Given the description of an element on the screen output the (x, y) to click on. 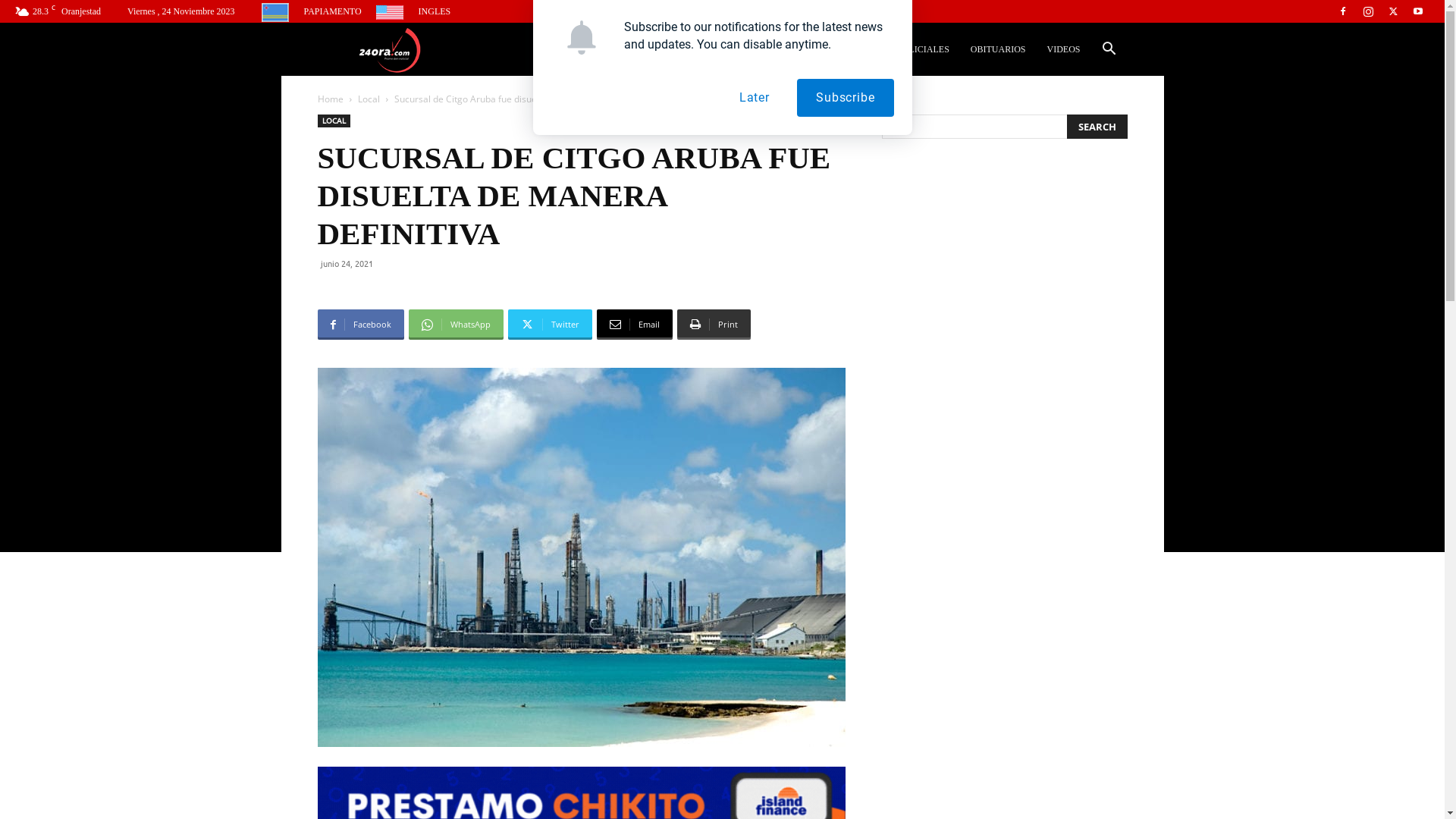
Prome den Noticia Element type: hover (389, 49)
Twitter Element type: text (550, 324)
Search Element type: text (1096, 126)
INGLES Element type: text (413, 11)
VIDEOS Element type: text (1062, 48)
Home Element type: text (329, 98)
topFacebookLike Element type: hover (430, 290)
POLICIALES Element type: text (923, 48)
Email Element type: text (633, 324)
Subscribe Element type: text (845, 97)
PAPIAMENTO Element type: text (311, 11)
Local Element type: text (368, 98)
062421citgo-696x500 Element type: hover (580, 556)
Facebook Element type: text (359, 324)
PORTAL Element type: text (806, 48)
WhatsApp Element type: text (454, 324)
Facebook Element type: hover (1342, 11)
LOCAL Element type: text (332, 120)
Print Element type: text (712, 324)
Twitter Element type: hover (1392, 11)
Later Element type: text (754, 97)
Youtube Element type: hover (1417, 11)
Instagram Element type: hover (1367, 11)
LOCAL Element type: text (860, 48)
OBITUARIOS Element type: text (998, 48)
Busca Element type: text (1084, 118)
